Given the description of an element on the screen output the (x, y) to click on. 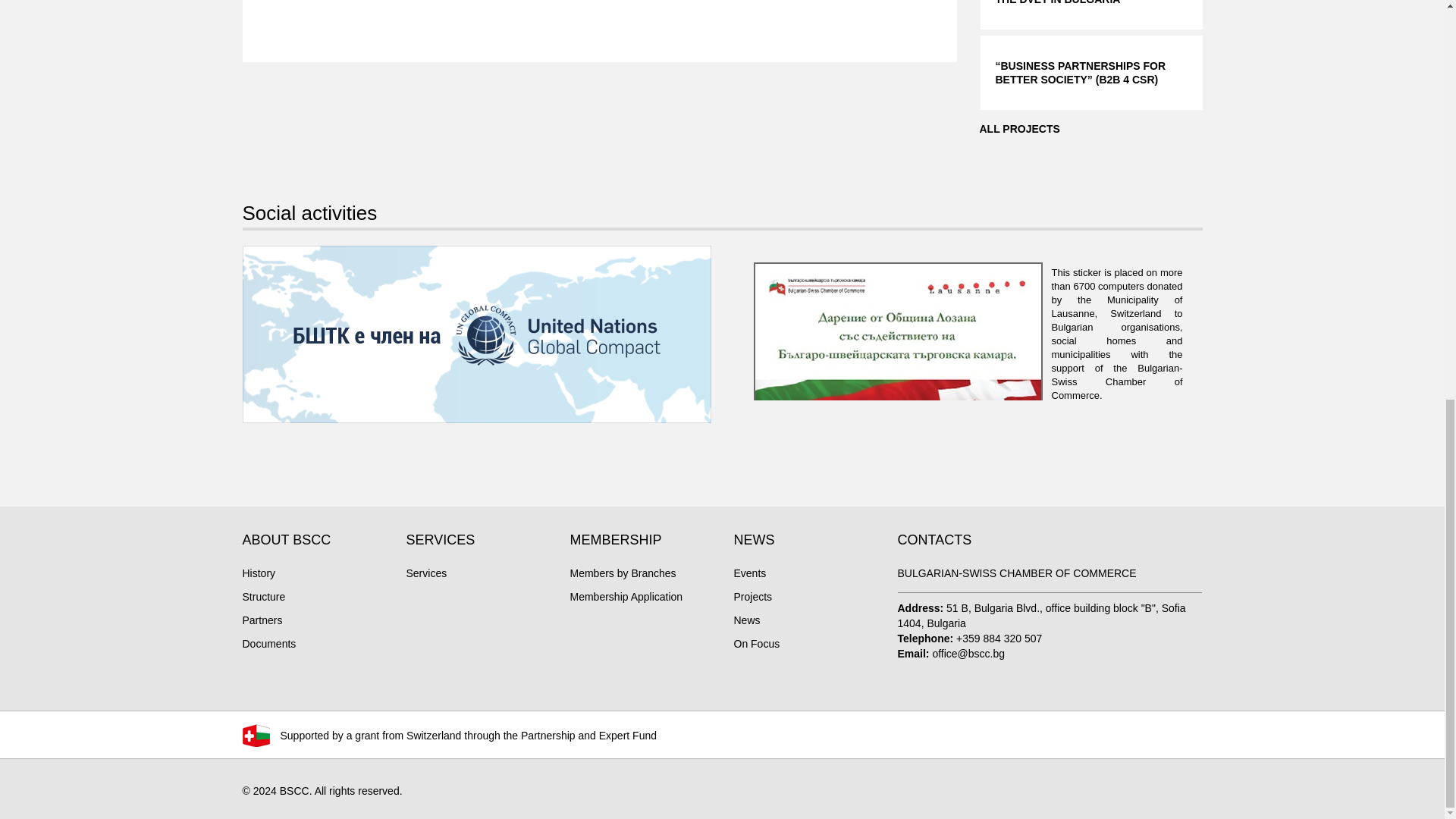
Partners (262, 620)
Members by Branches (623, 573)
Services (426, 573)
Structure (264, 596)
Membership Application (626, 596)
Events (750, 573)
SUSTAINABLE IMPLEMENTATION OF THE DVET IN BULGARIA (1090, 14)
Documents (270, 644)
ALL PROJECTS (1026, 128)
History (259, 573)
